Given the description of an element on the screen output the (x, y) to click on. 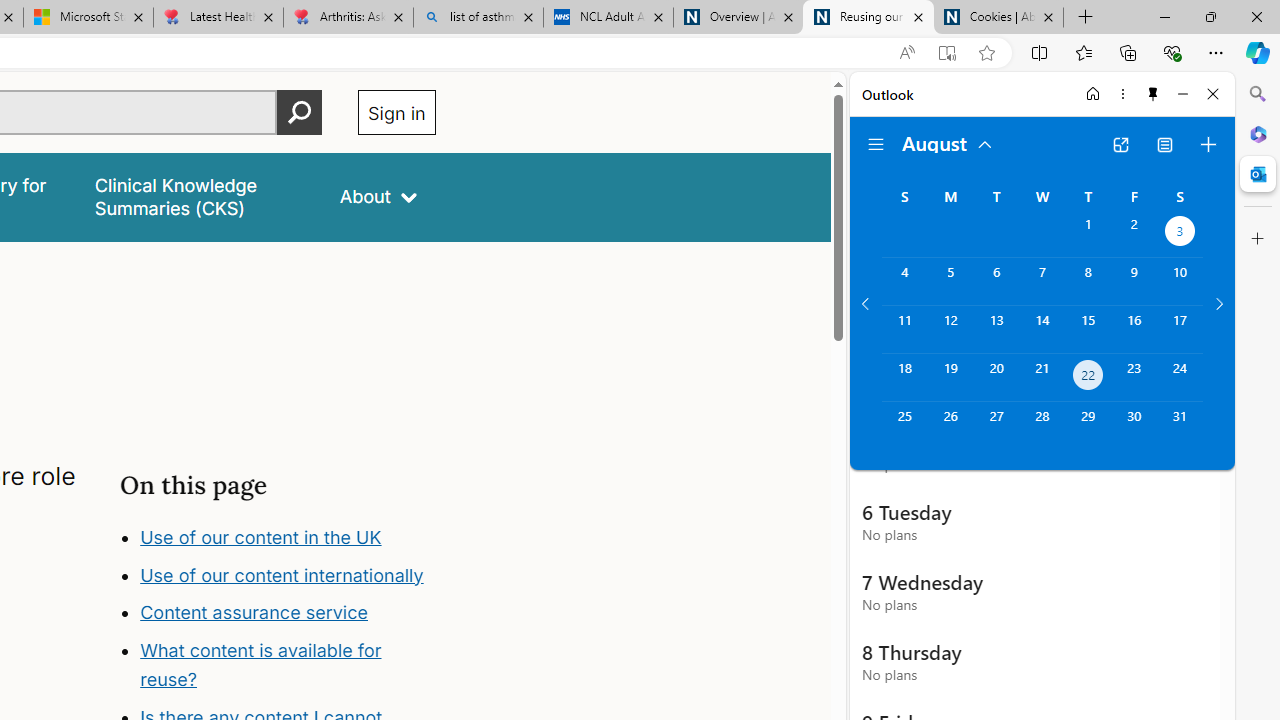
Sunday, August 25, 2024.  (904, 425)
Open in new tab (1120, 144)
Use of our content internationally (281, 574)
August (948, 141)
Monday, August 19, 2024.  (950, 377)
Wednesday, August 28, 2024.  (1042, 425)
View Switcher. Current view is Agenda view (1165, 144)
